Given the description of an element on the screen output the (x, y) to click on. 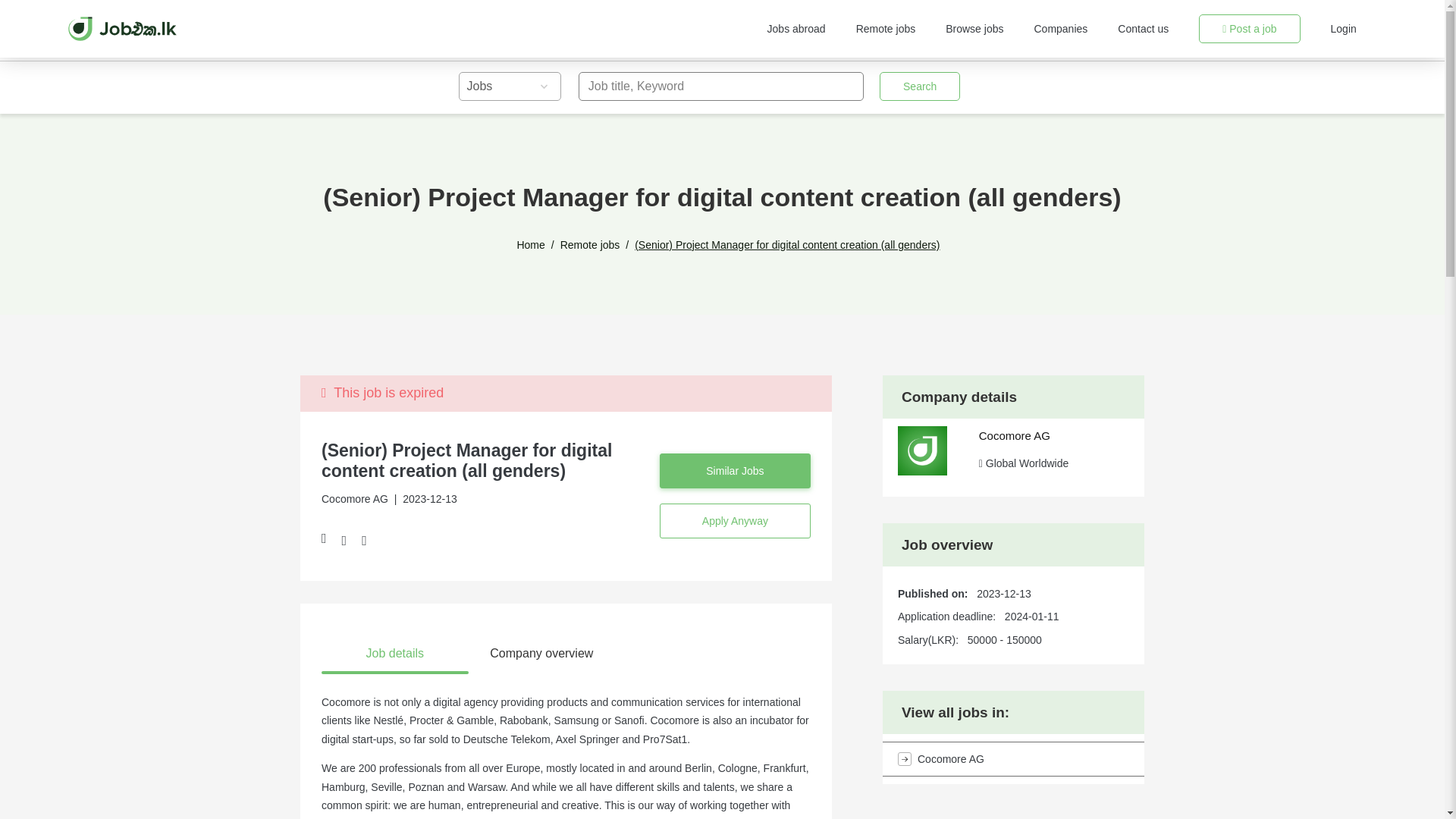
Login (1343, 28)
Job details (394, 653)
Contact us (1143, 28)
Browse jobs (973, 28)
Search (919, 86)
Cocomore AG (1013, 435)
Apply Anyway (734, 520)
Post a job (1249, 28)
Home (530, 244)
Remote jobs (590, 244)
